Given the description of an element on the screen output the (x, y) to click on. 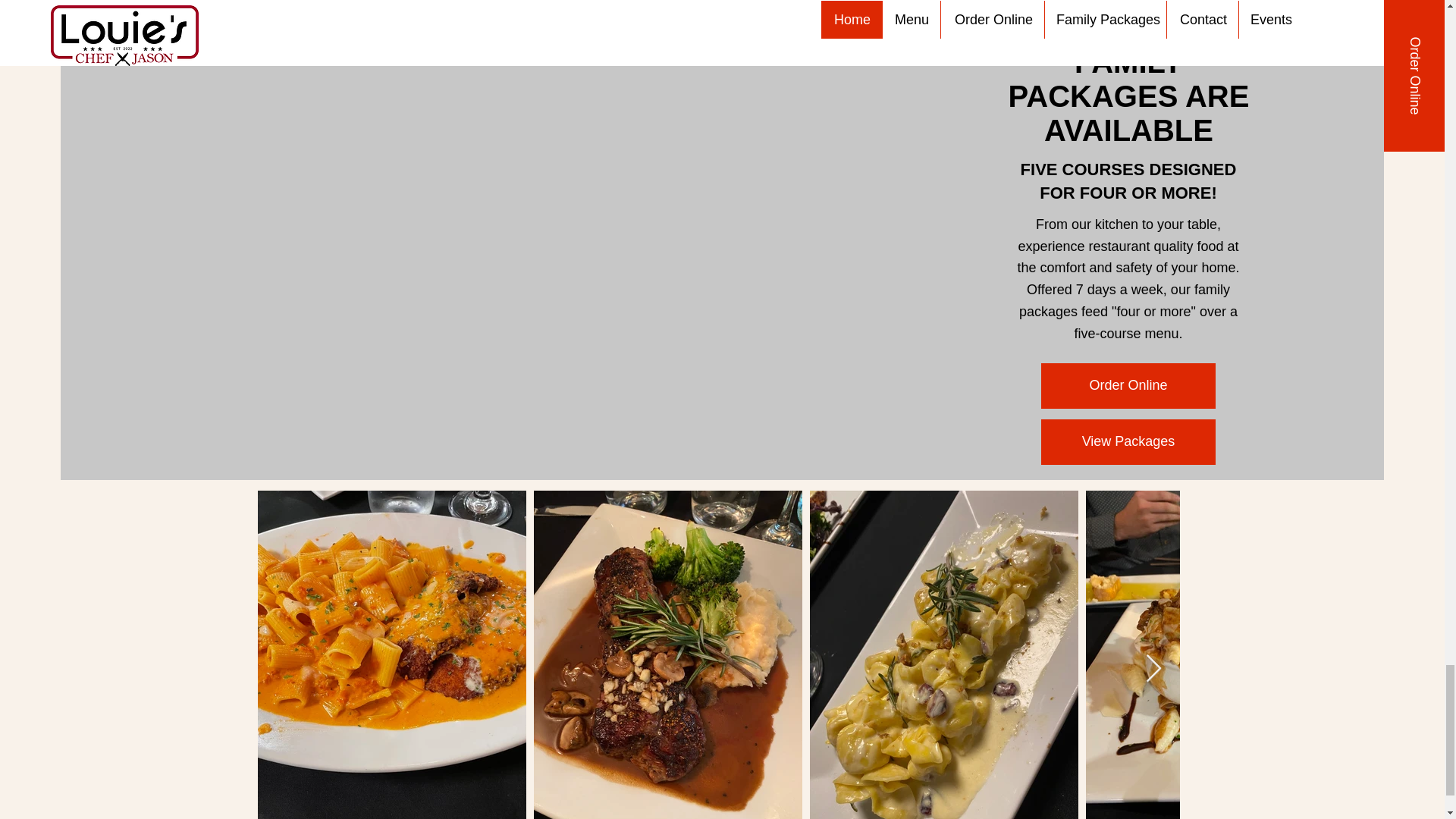
Order Online (1128, 385)
View Packages (1128, 442)
